Given the description of an element on the screen output the (x, y) to click on. 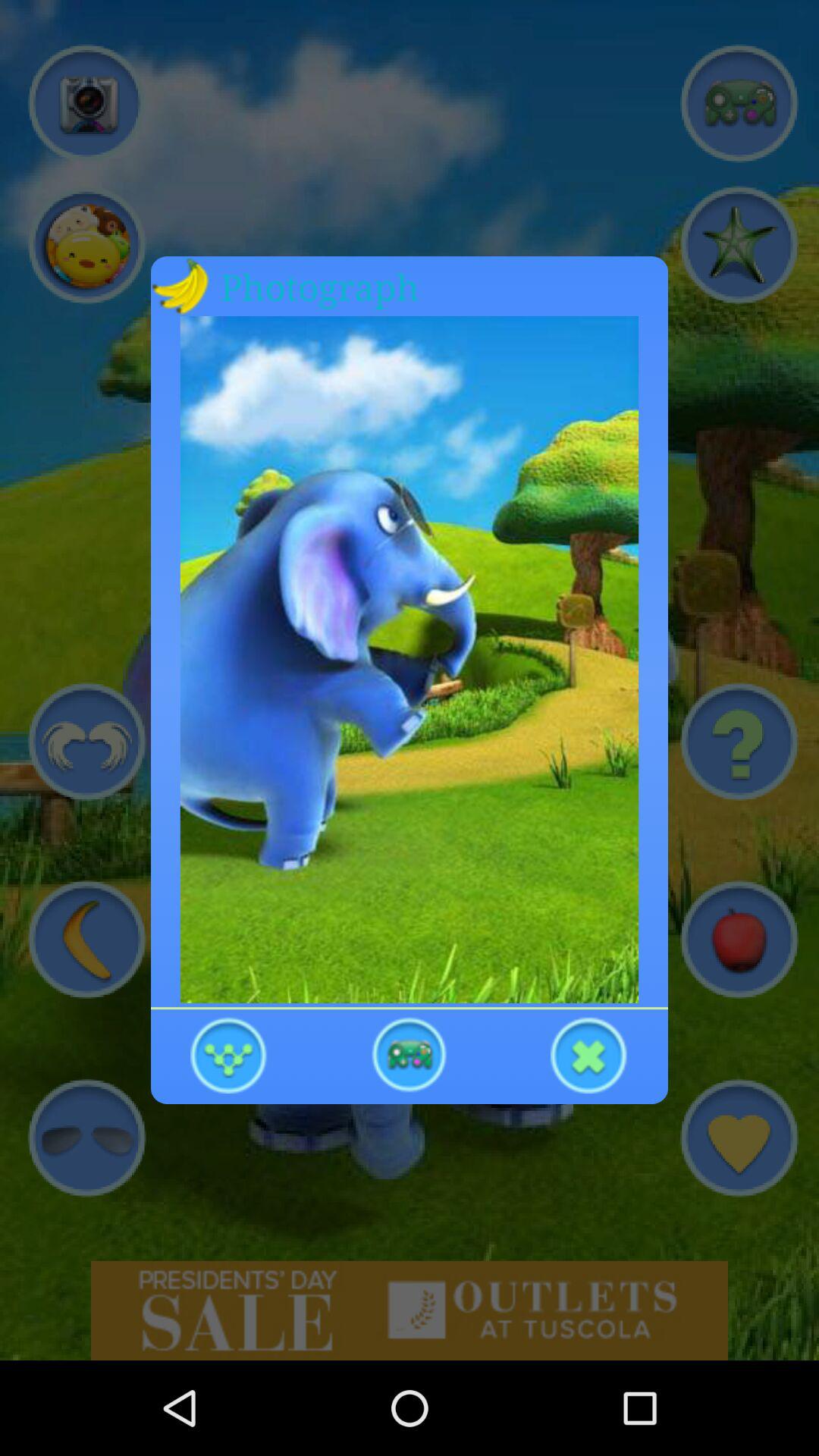
cancel option (589, 1054)
